Given the description of an element on the screen output the (x, y) to click on. 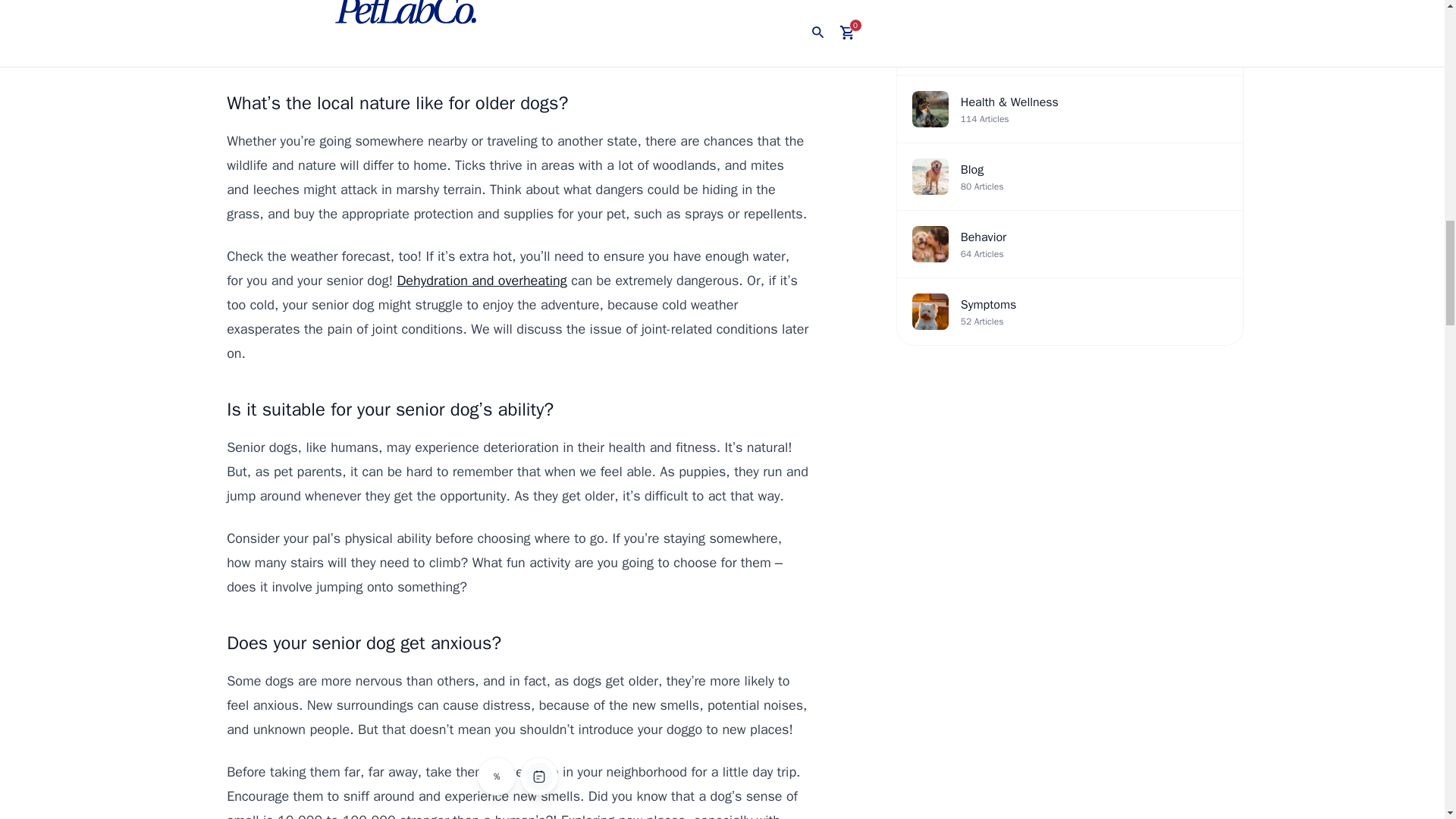
Dehydration and overheating (482, 280)
